Given the description of an element on the screen output the (x, y) to click on. 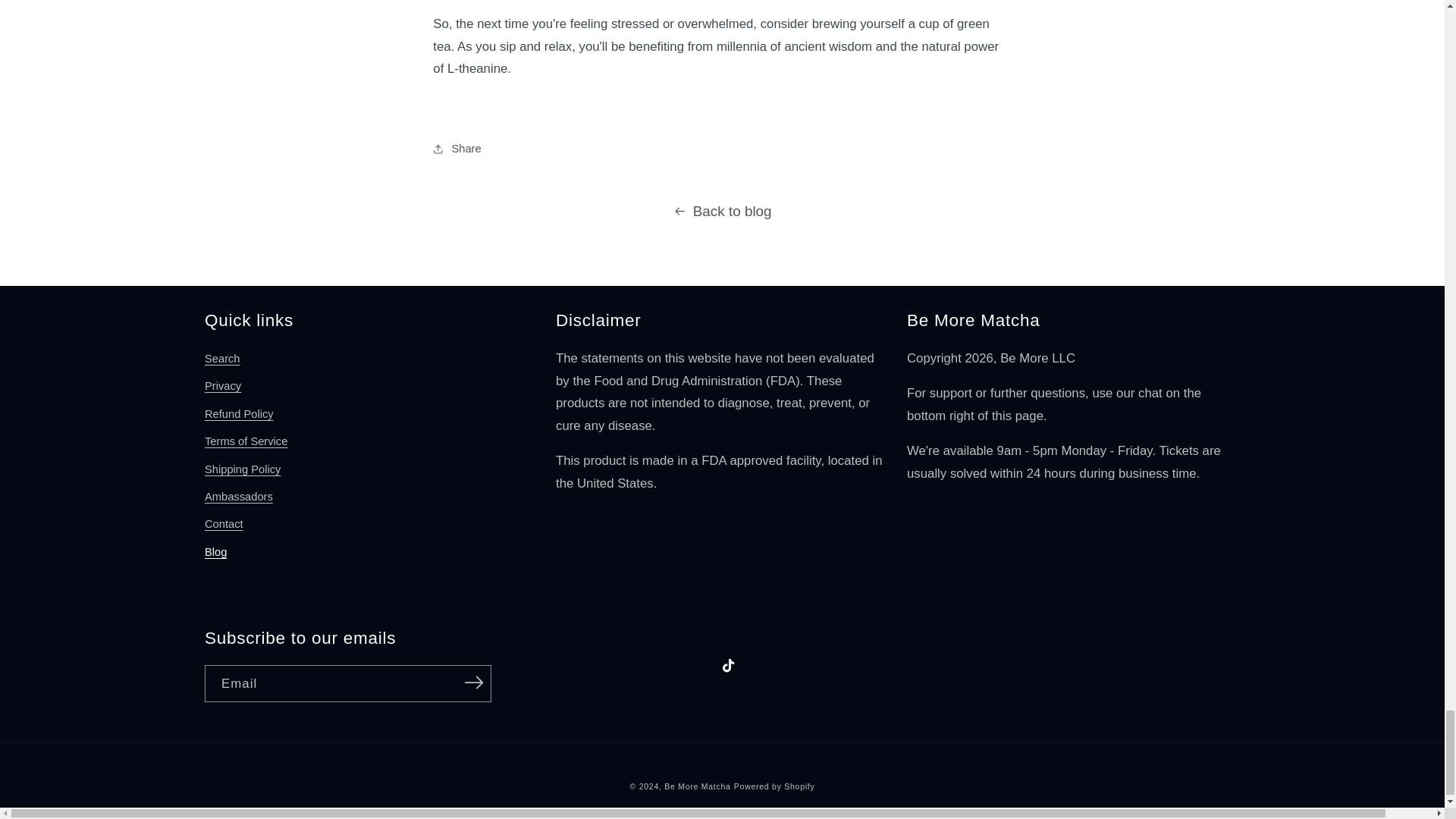
Search (222, 361)
Contact (224, 524)
Privacy (223, 386)
Back to blog (722, 211)
Terms of Service (245, 441)
Ambassadors (239, 497)
Refund Policy (239, 414)
Shipping Policy (243, 469)
